Given the description of an element on the screen output the (x, y) to click on. 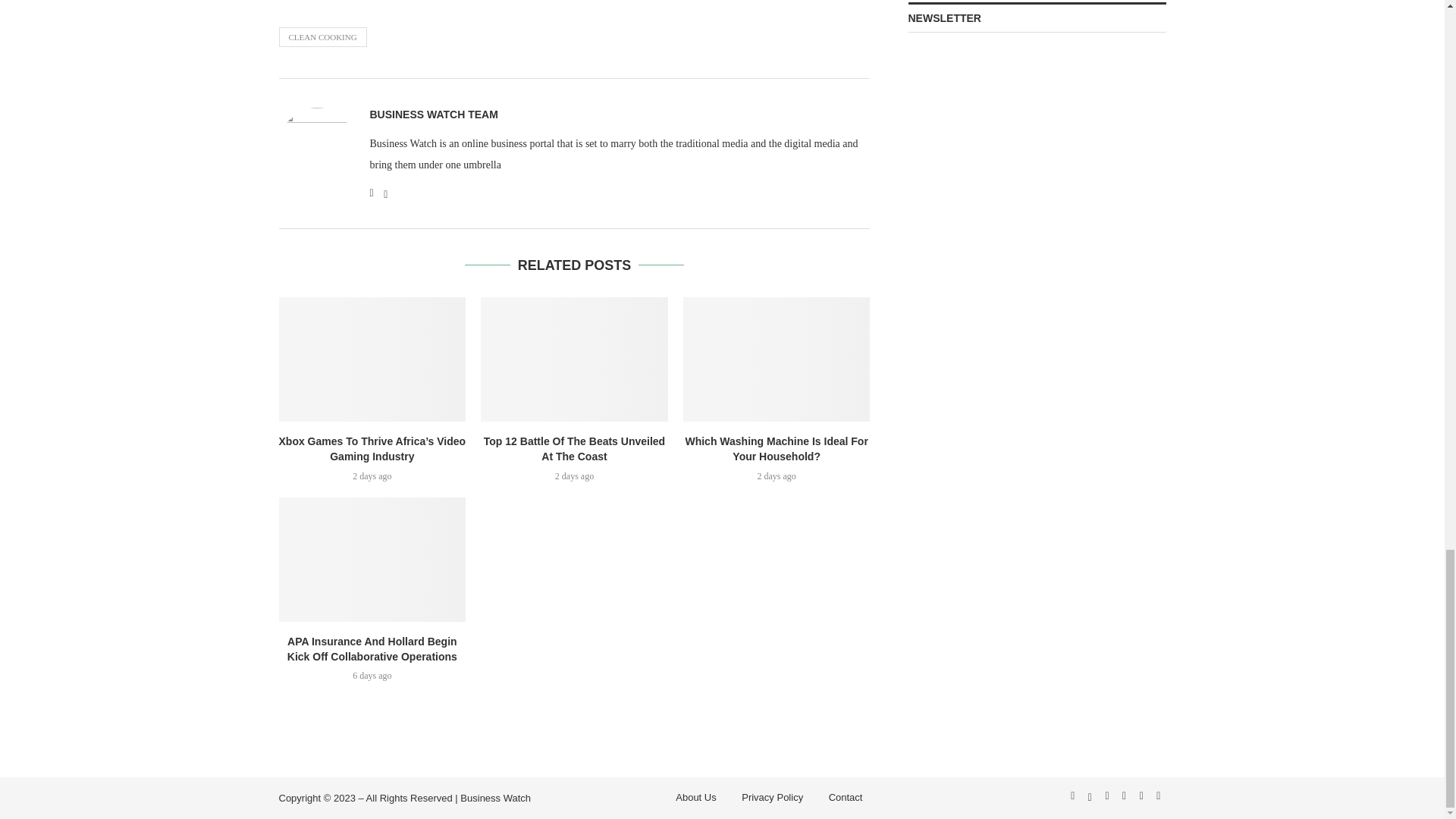
Which Washing Machine Is Ideal For Your Household? (776, 359)
Top 12 Battle Of The Beats Unveiled At The Coast (574, 359)
Author Business Watch Team (433, 114)
